Given the description of an element on the screen output the (x, y) to click on. 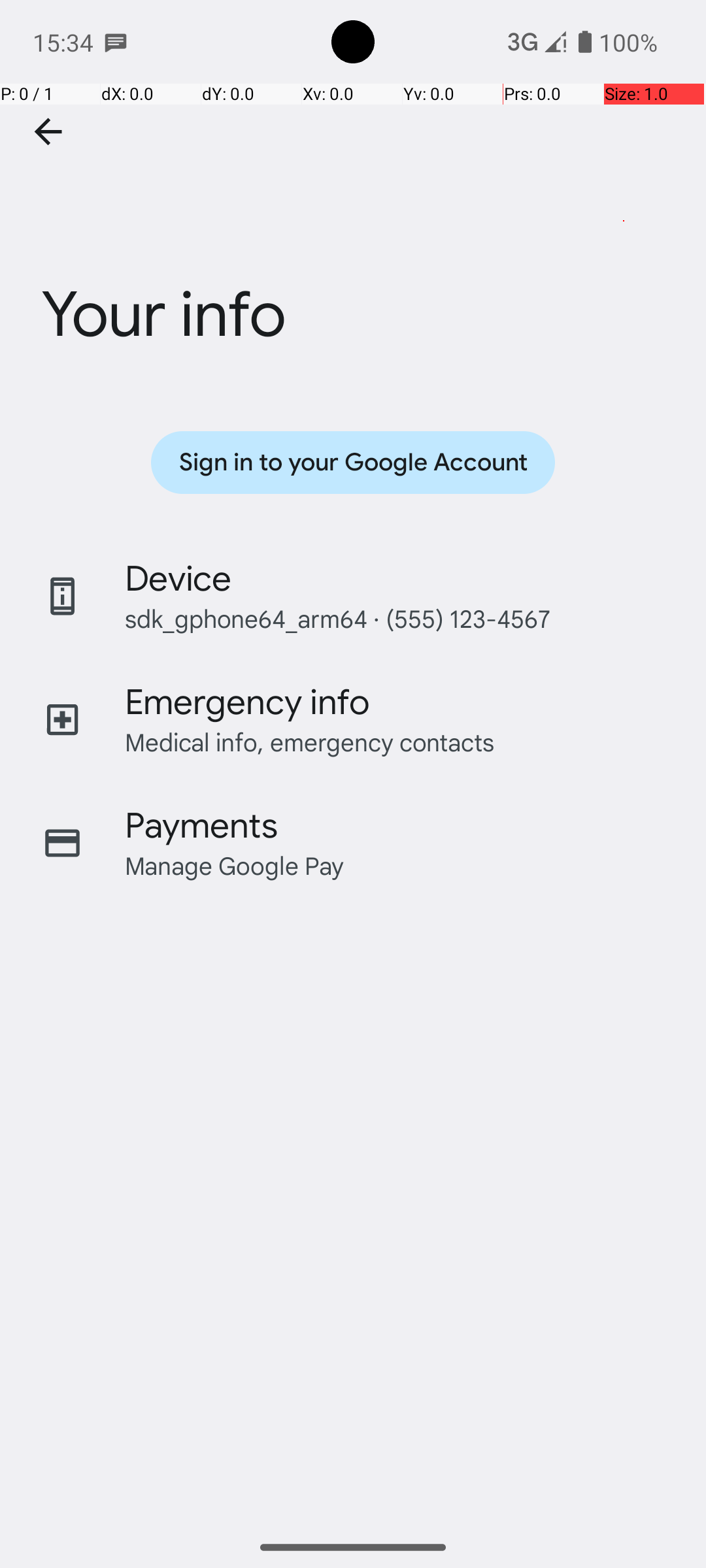
Your info Element type: android.widget.FrameLayout (353, 236)
Sign in to your Google Account Element type: android.widget.Button (352, 462)
Device Element type: android.widget.TextView (178, 578)
sdk_gphone64_arm64 · (555) 123-4567 Element type: android.widget.TextView (337, 618)
Emergency info Element type: android.widget.TextView (246, 702)
Medical info, emergency contacts Element type: android.widget.TextView (309, 741)
Payments Element type: android.widget.TextView (200, 825)
Manage Google Pay Element type: android.widget.TextView (234, 865)
